Given the description of an element on the screen output the (x, y) to click on. 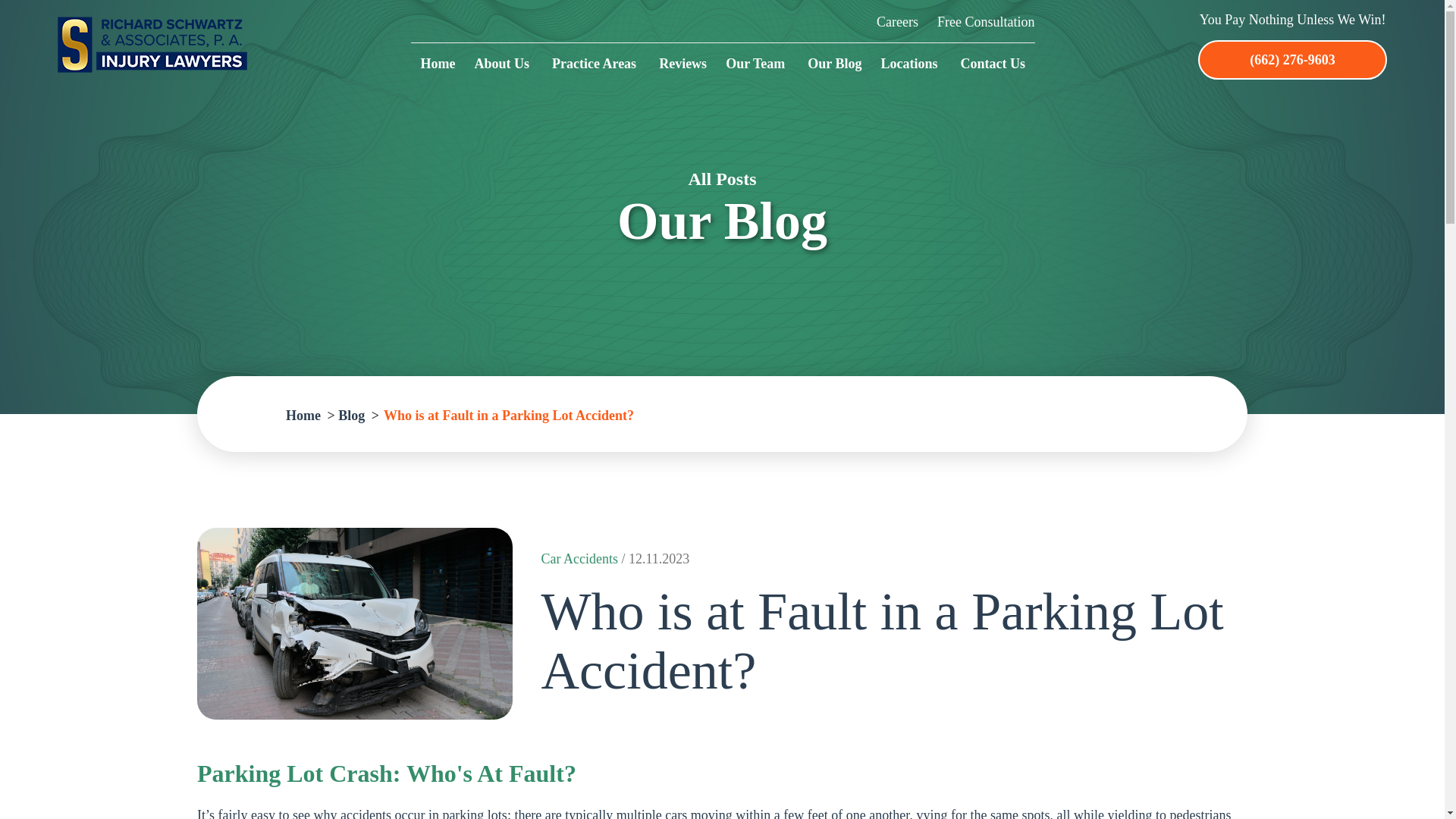
Blog (351, 415)
Practice Areas (596, 65)
Careers (897, 20)
Free Consultation (986, 20)
Reviews (682, 65)
Our Team (756, 65)
About Us (503, 65)
Home (302, 415)
Home (437, 65)
